Given the description of an element on the screen output the (x, y) to click on. 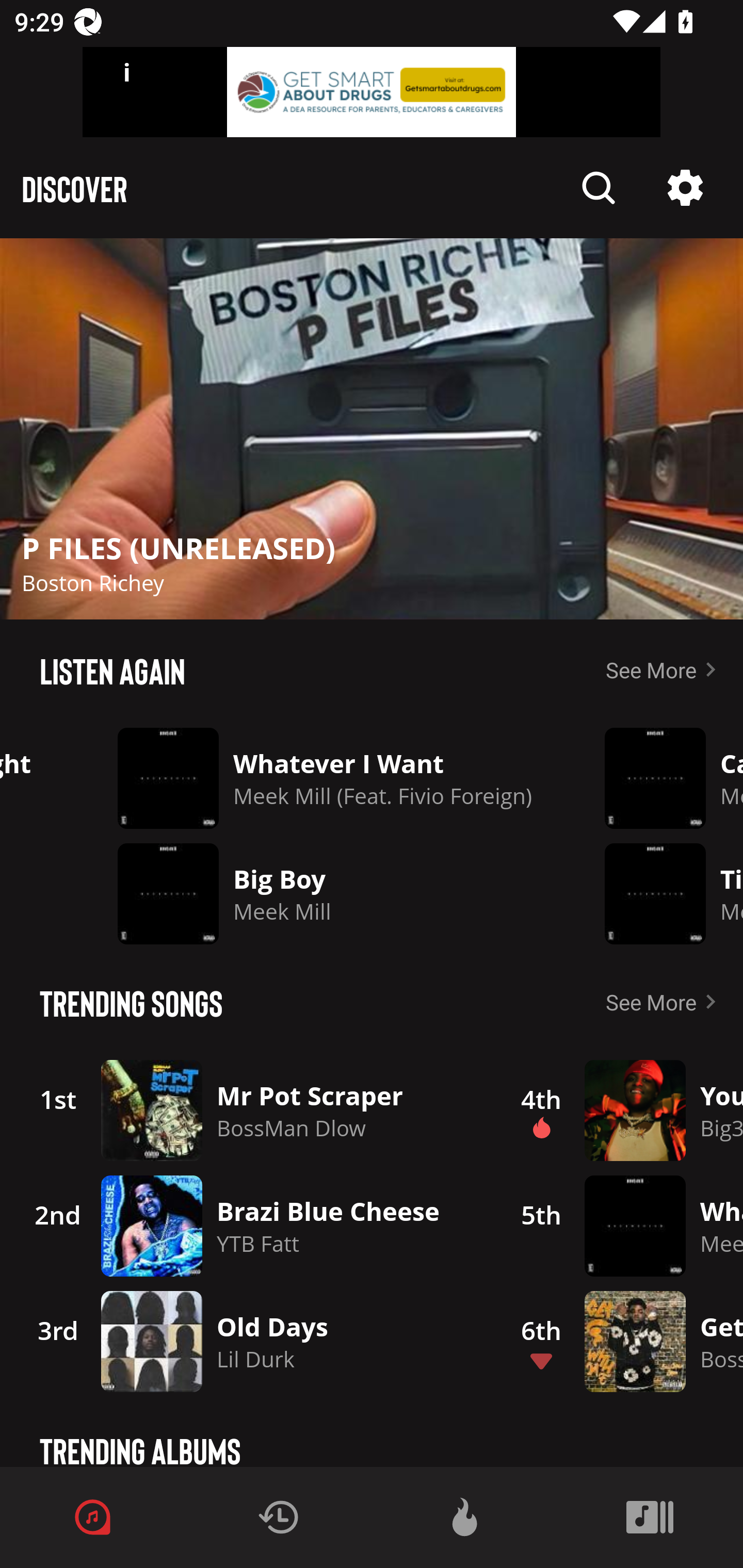
Description (598, 188)
Description (684, 188)
Description (371, 428)
See More (664, 669)
Description Came from the Bottom Meek Mill (659, 778)
Description Big Boy Meek Mill (324, 893)
Description Times Like This Meek Mill (659, 893)
See More (664, 1001)
1st Description Mr Pot Scraper BossMan Dlow (248, 1110)
4th Description Description You Thought Big30 (620, 1110)
2nd Description Brazi Blue Cheese YTB Fatt (248, 1226)
3rd Description Old Days Lil Durk (248, 1341)
